Given the description of an element on the screen output the (x, y) to click on. 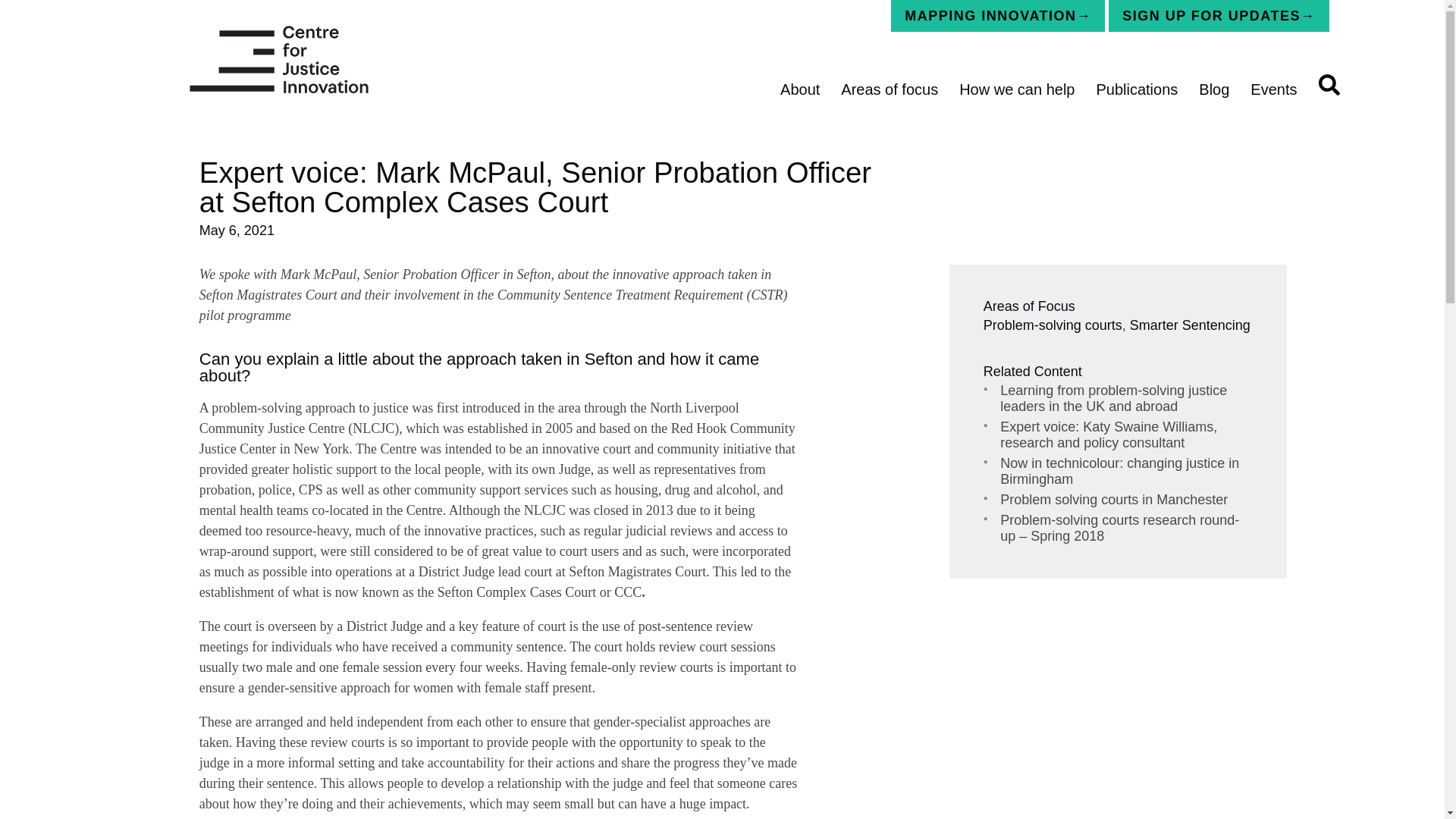
About (799, 96)
Events (1273, 96)
Publications (1136, 96)
Areas of focus (889, 96)
expanded (287, 4)
Problem-solving courts (1053, 324)
SIGN UP FOR UPDATES (1217, 15)
MAPPING INNOVATION (998, 15)
